Given the description of an element on the screen output the (x, y) to click on. 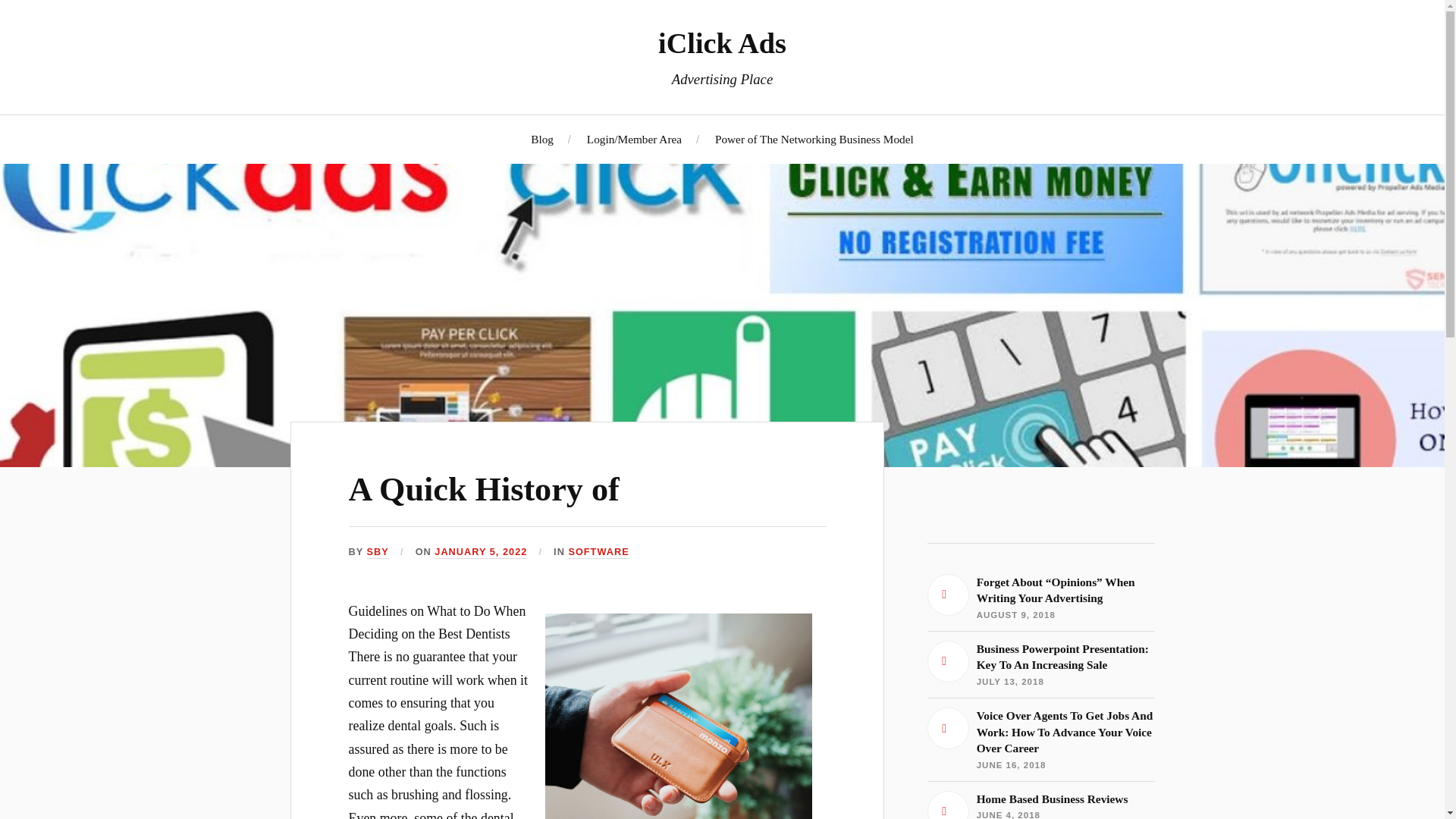
Posts by sby (377, 552)
iClick Ads (722, 42)
JANUARY 5, 2022 (480, 552)
A Quick History of (484, 488)
Business Powerpoint Presentation: Key To An Increasing Sale (1040, 664)
Power of The Networking Business Model (814, 138)
SOFTWARE (1040, 805)
